Given the description of an element on the screen output the (x, y) to click on. 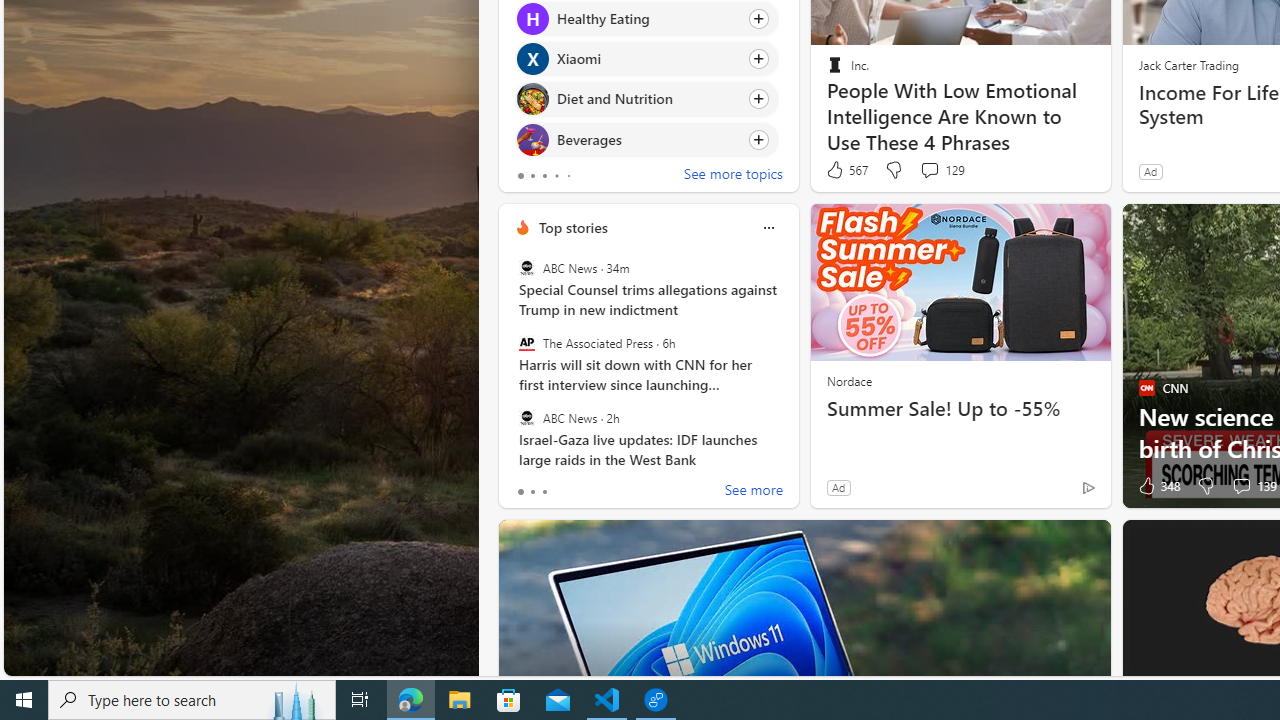
Click to follow topic Xiaomi (646, 59)
Jack Carter Trading (1188, 64)
The Associated Press (526, 343)
Click to follow topic Beverages (646, 138)
Top stories (572, 227)
tab-2 (543, 491)
567 Like (845, 170)
Diet and Nutrition (532, 98)
ABC News (526, 417)
tab-1 (532, 491)
